Given the description of an element on the screen output the (x, y) to click on. 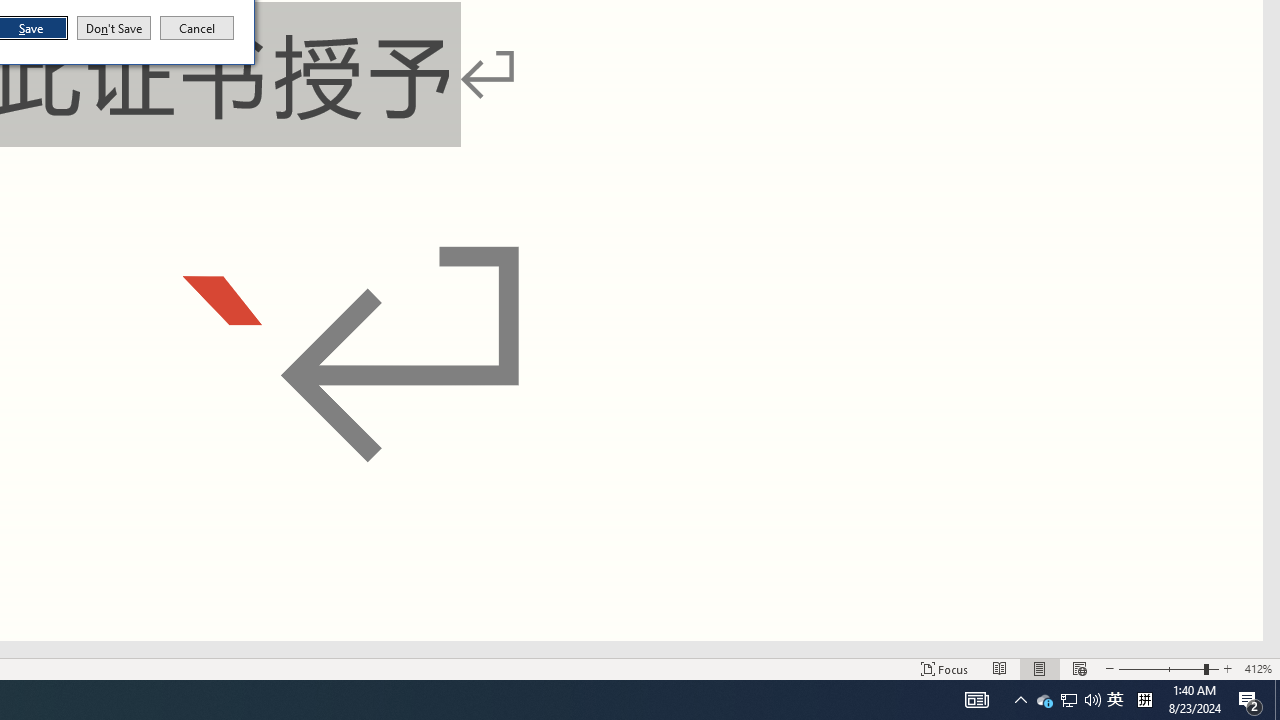
Zoom 412% (1044, 699)
Don't Save (1258, 668)
Tray Input Indicator - Chinese (Simplified, China) (113, 27)
User Promoted Notification Area (1144, 699)
